Given the description of an element on the screen output the (x, y) to click on. 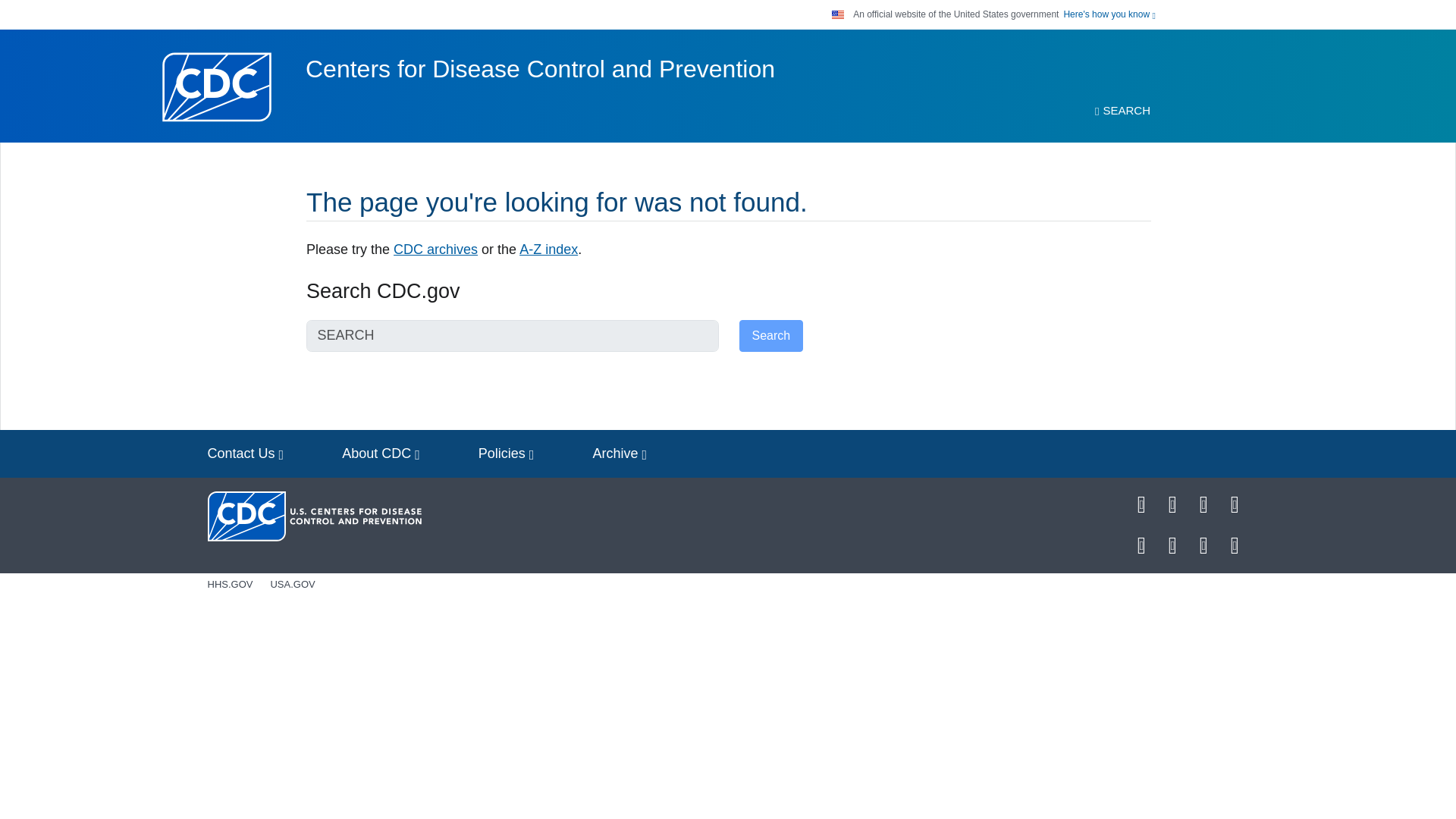
Archive (619, 453)
SEARCH (1122, 110)
A-Z index (548, 249)
Centers for Disease Control and Prevention (539, 68)
Contact Us (245, 453)
Policies (506, 453)
Search (770, 336)
About CDC (381, 453)
CDC archives (435, 249)
Here's how you know (1108, 14)
